Given the description of an element on the screen output the (x, y) to click on. 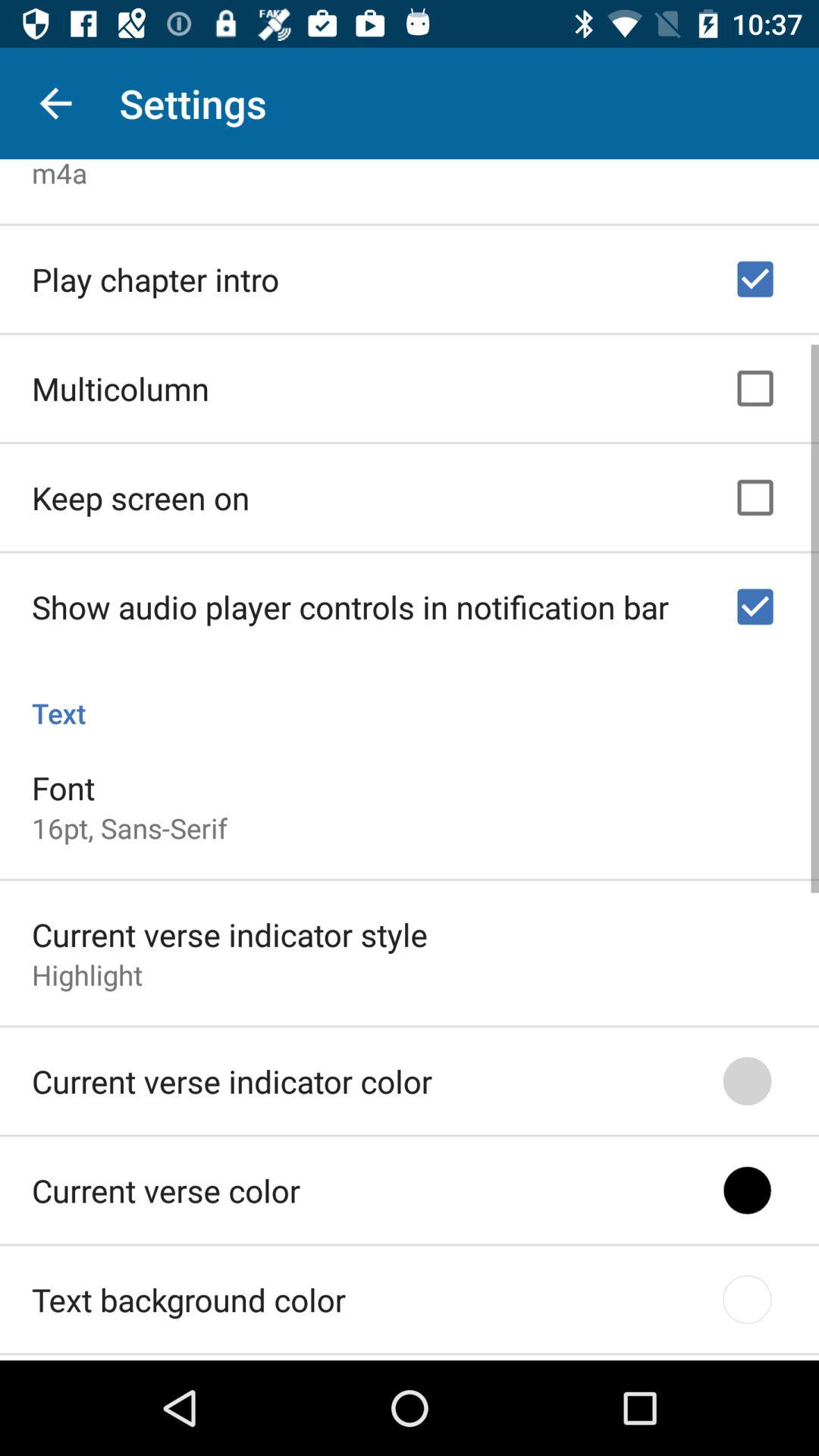
select icon next to the settings item (55, 103)
